Given the description of an element on the screen output the (x, y) to click on. 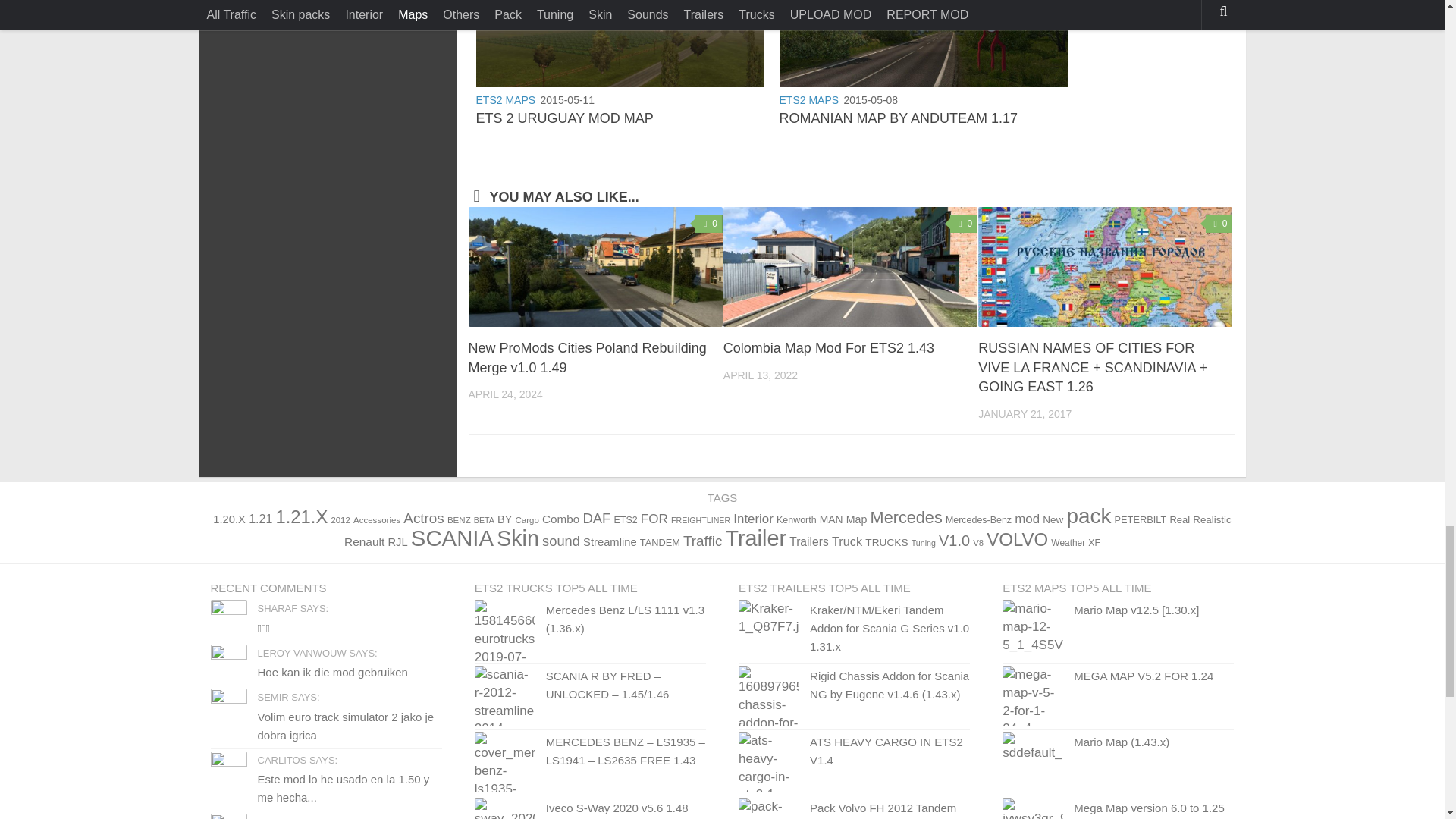
New ProMods Cities Poland Rebuilding Merge v1.0 1.49 (595, 266)
Colombia Map Mod For ETS2 1.43 (828, 347)
New ProMods Cities Poland Rebuilding Merge v1.0 1.49 (587, 357)
Colombia Map Mod For ETS2 1.43 (849, 266)
